Given the description of an element on the screen output the (x, y) to click on. 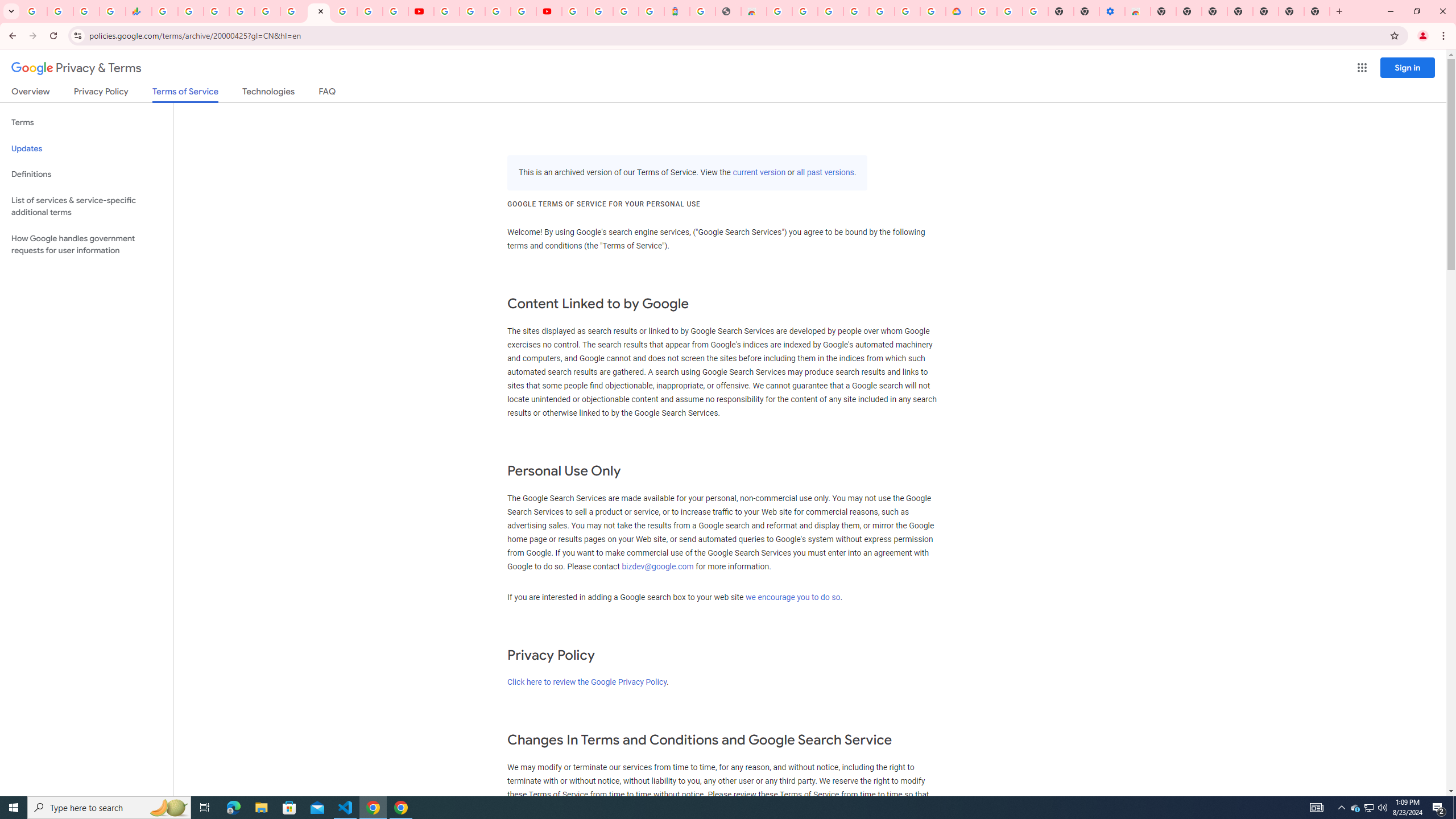
Google Account Help (1009, 11)
Create your Google Account (497, 11)
New Tab (1265, 11)
Click here to review the Google Privacy Policy (586, 682)
Content Creator Programs & Opportunities - YouTube Creators (548, 11)
Settings - Accessibility (1111, 11)
